Given the description of an element on the screen output the (x, y) to click on. 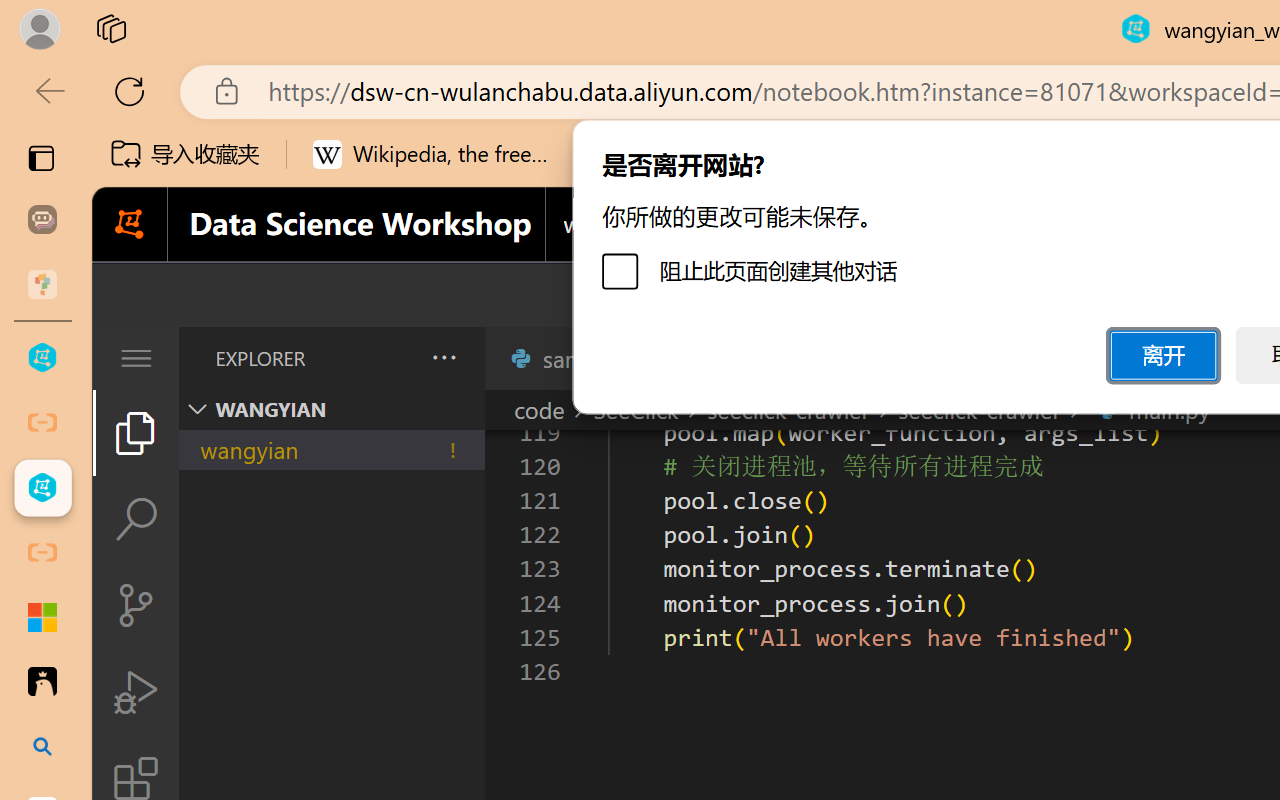
Source Control (Ctrl+Shift+G) (135, 604)
wangyian_dsw - DSW (42, 357)
Run and Debug (Ctrl+Shift+D) (135, 692)
Application Menu (135, 358)
